Given the description of an element on the screen output the (x, y) to click on. 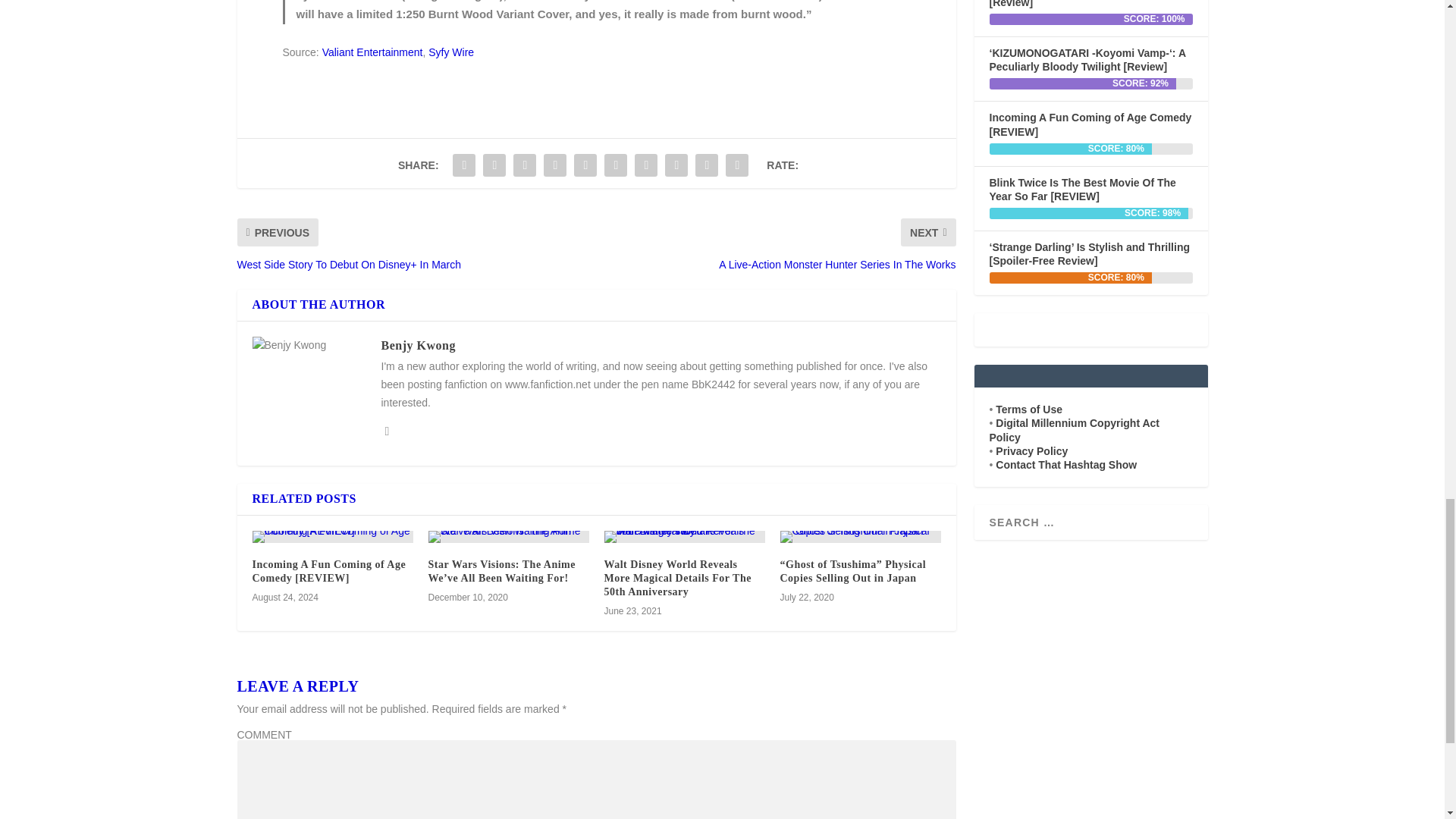
Valiant Entertainment (372, 51)
View all posts by Benjy Kwong (417, 345)
Syfy Wire (451, 51)
